Given the description of an element on the screen output the (x, y) to click on. 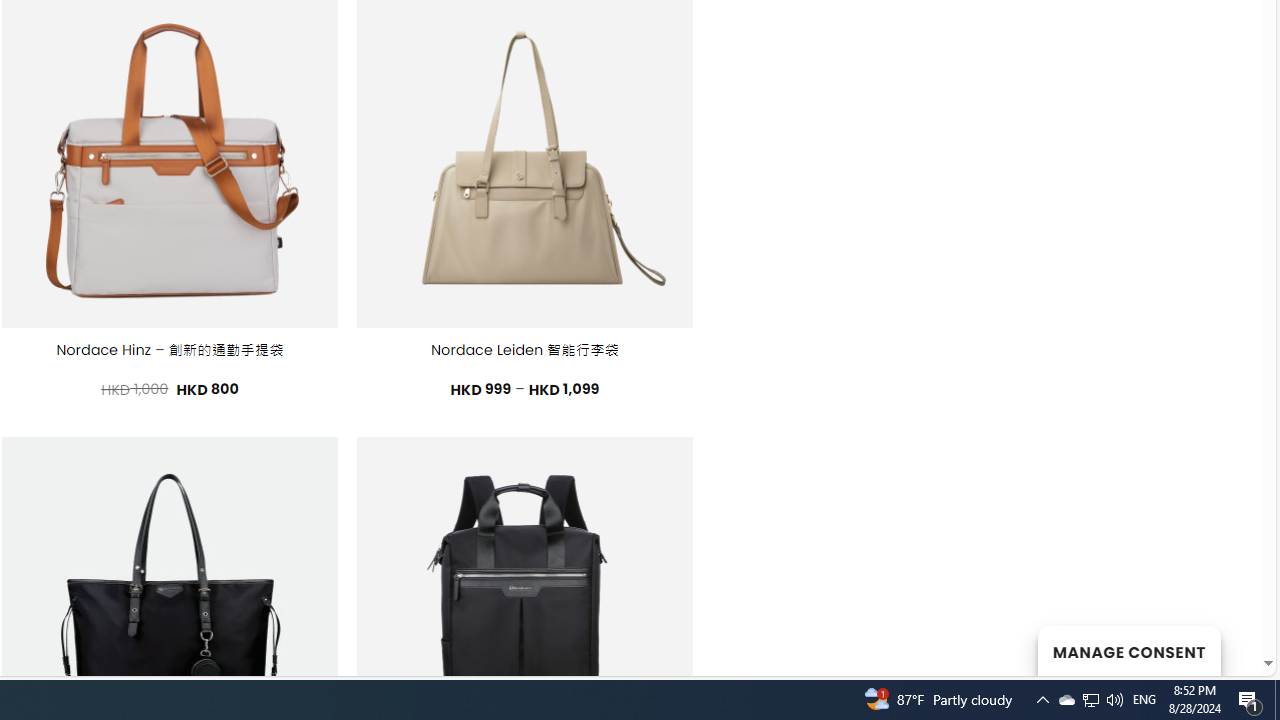
MANAGE CONSENT (1128, 650)
